Given the description of an element on the screen output the (x, y) to click on. 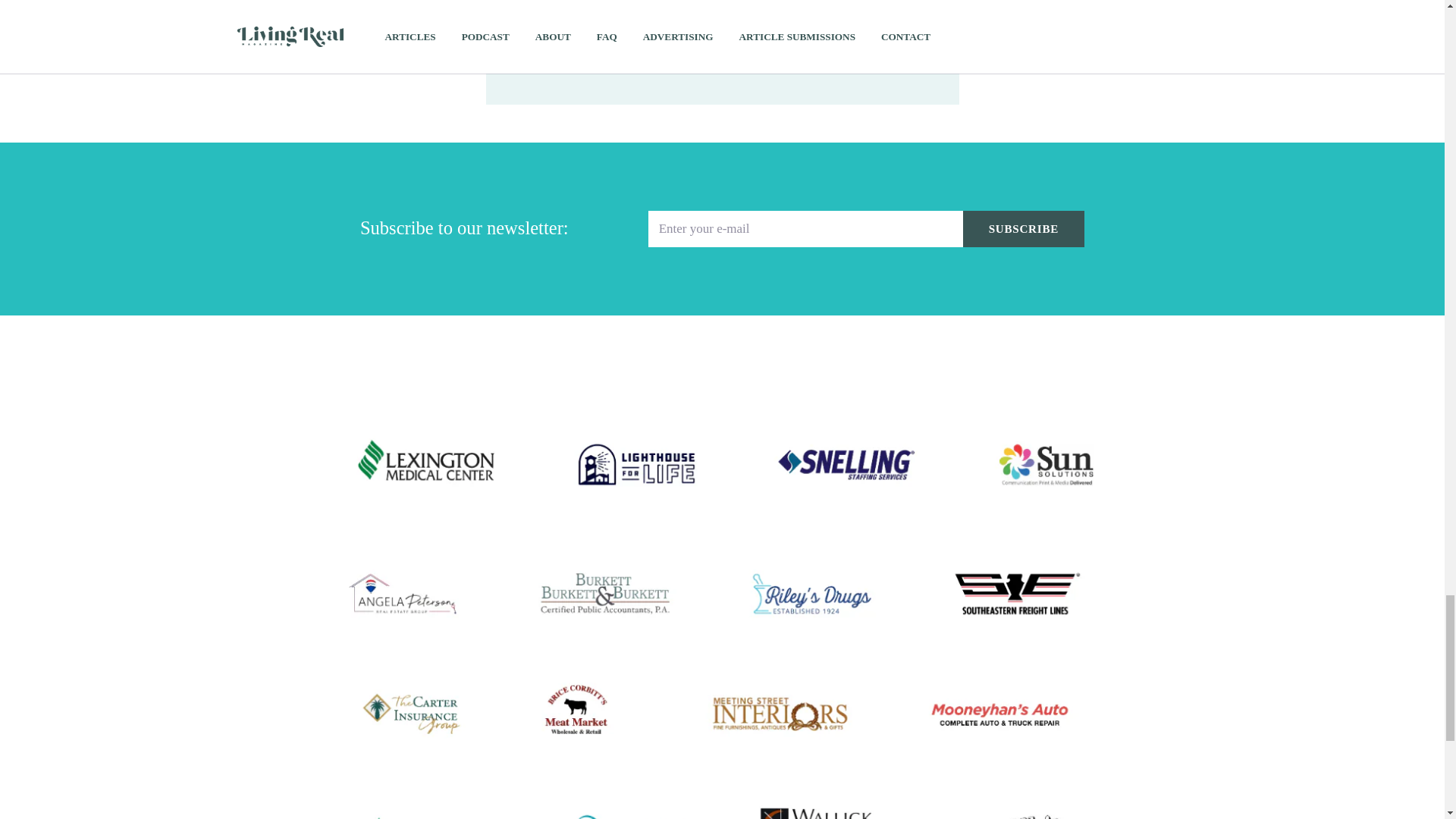
Subscribe (1023, 228)
Subscribe (1023, 228)
LEAVE YOUR COMMENT (619, 52)
